Given the description of an element on the screen output the (x, y) to click on. 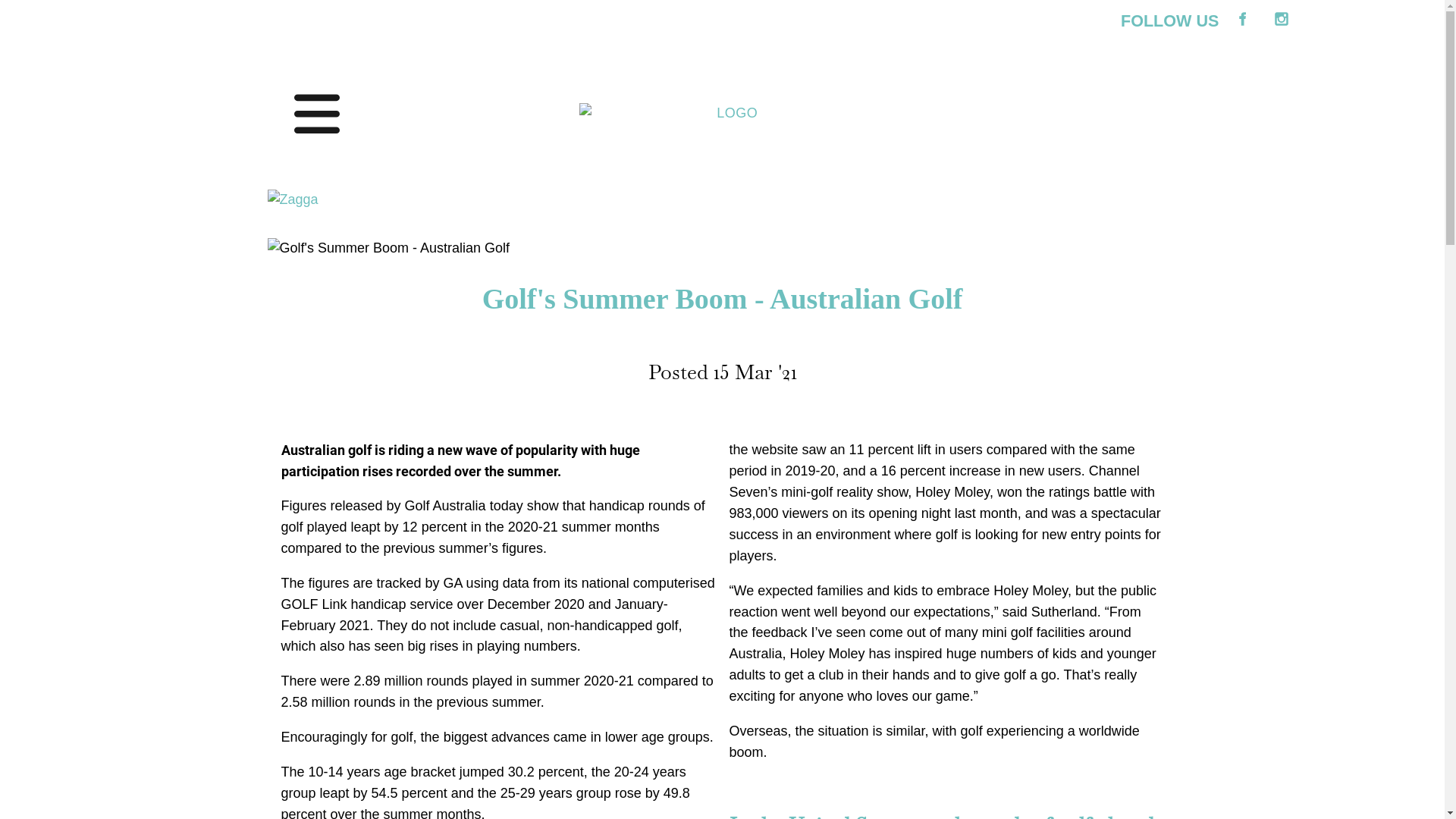
Instagram Element type: hover (1280, 18)
Facebook Element type: hover (1241, 18)
